Given the description of an element on the screen output the (x, y) to click on. 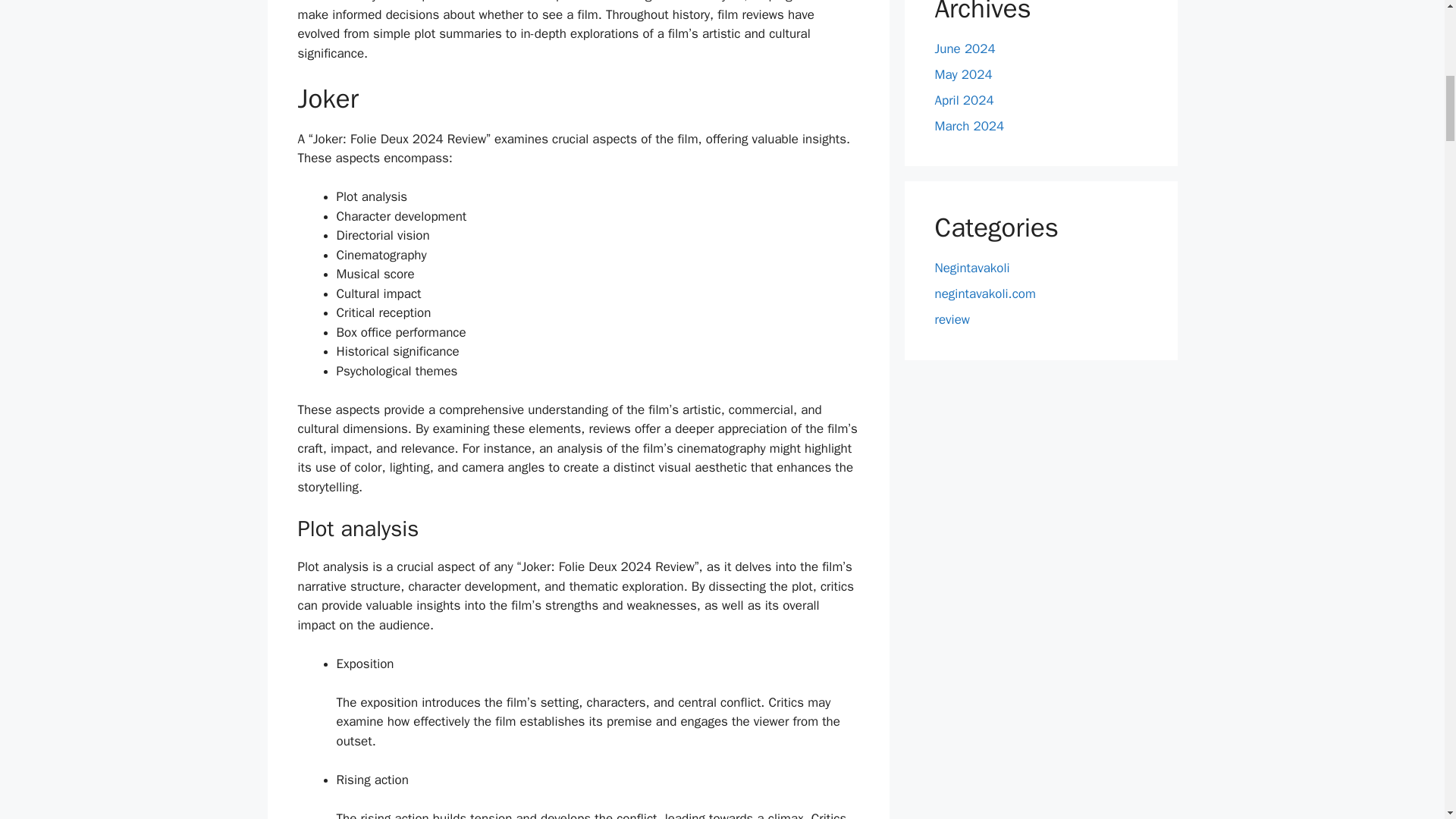
June 2024 (964, 48)
March 2024 (969, 125)
negintavakoli.com (984, 293)
April 2024 (963, 100)
review (951, 319)
Negintavakoli (971, 268)
May 2024 (962, 74)
